Given the description of an element on the screen output the (x, y) to click on. 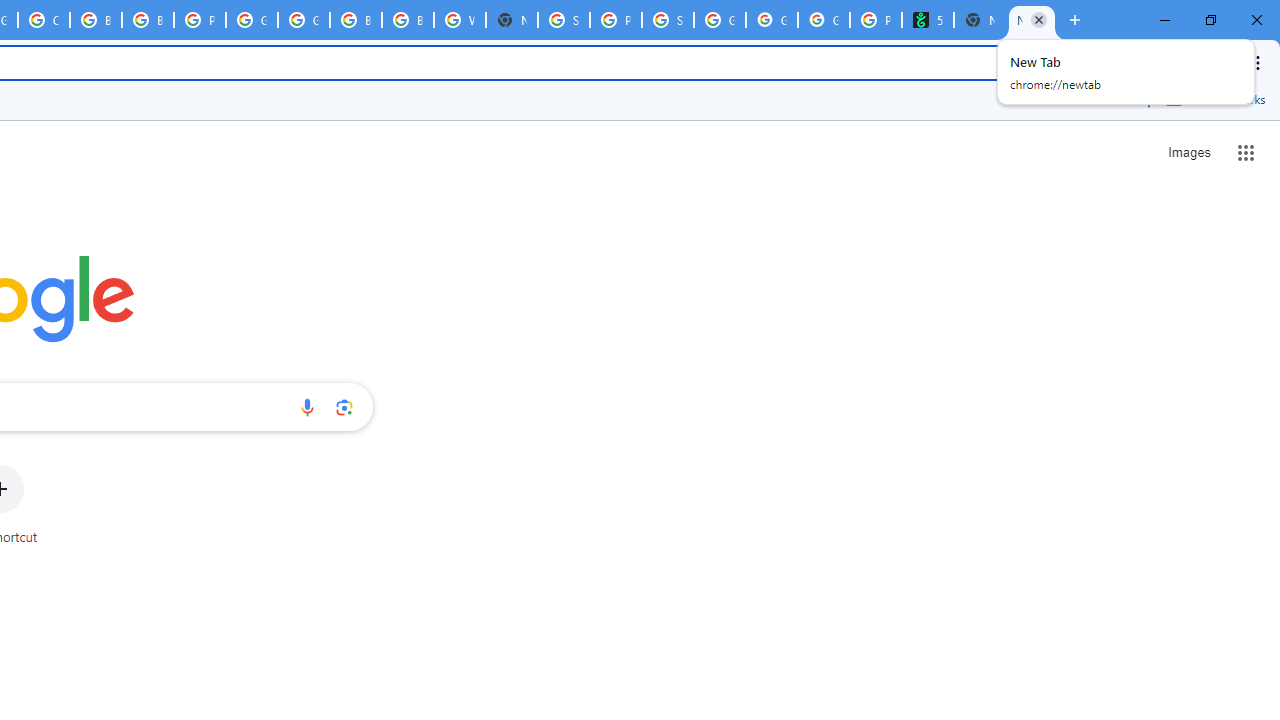
Minimize (1165, 20)
Search by voice (307, 407)
